Given the description of an element on the screen output the (x, y) to click on. 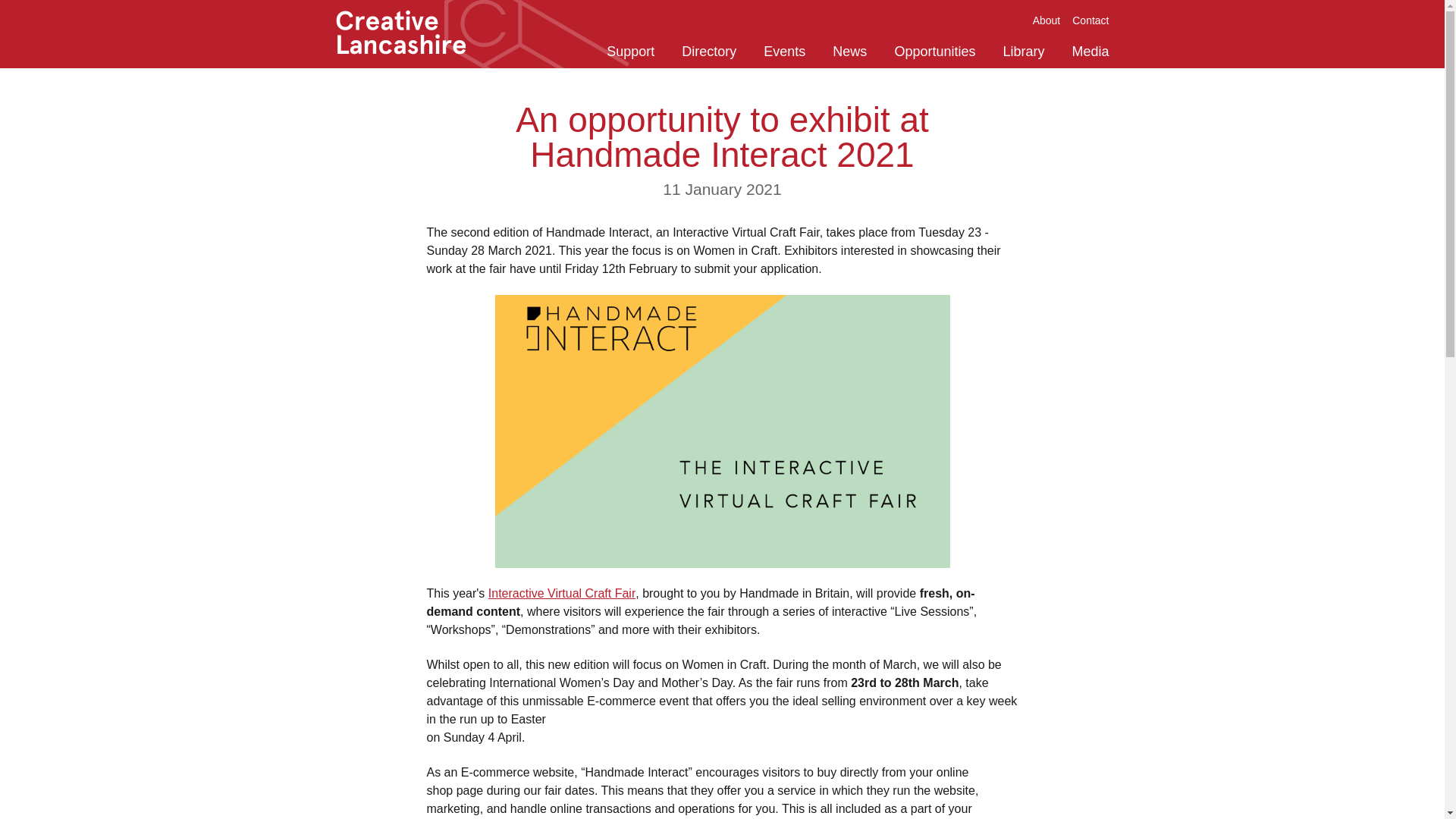
Interactive Virtual Craft Fair (560, 593)
